Given the description of an element on the screen output the (x, y) to click on. 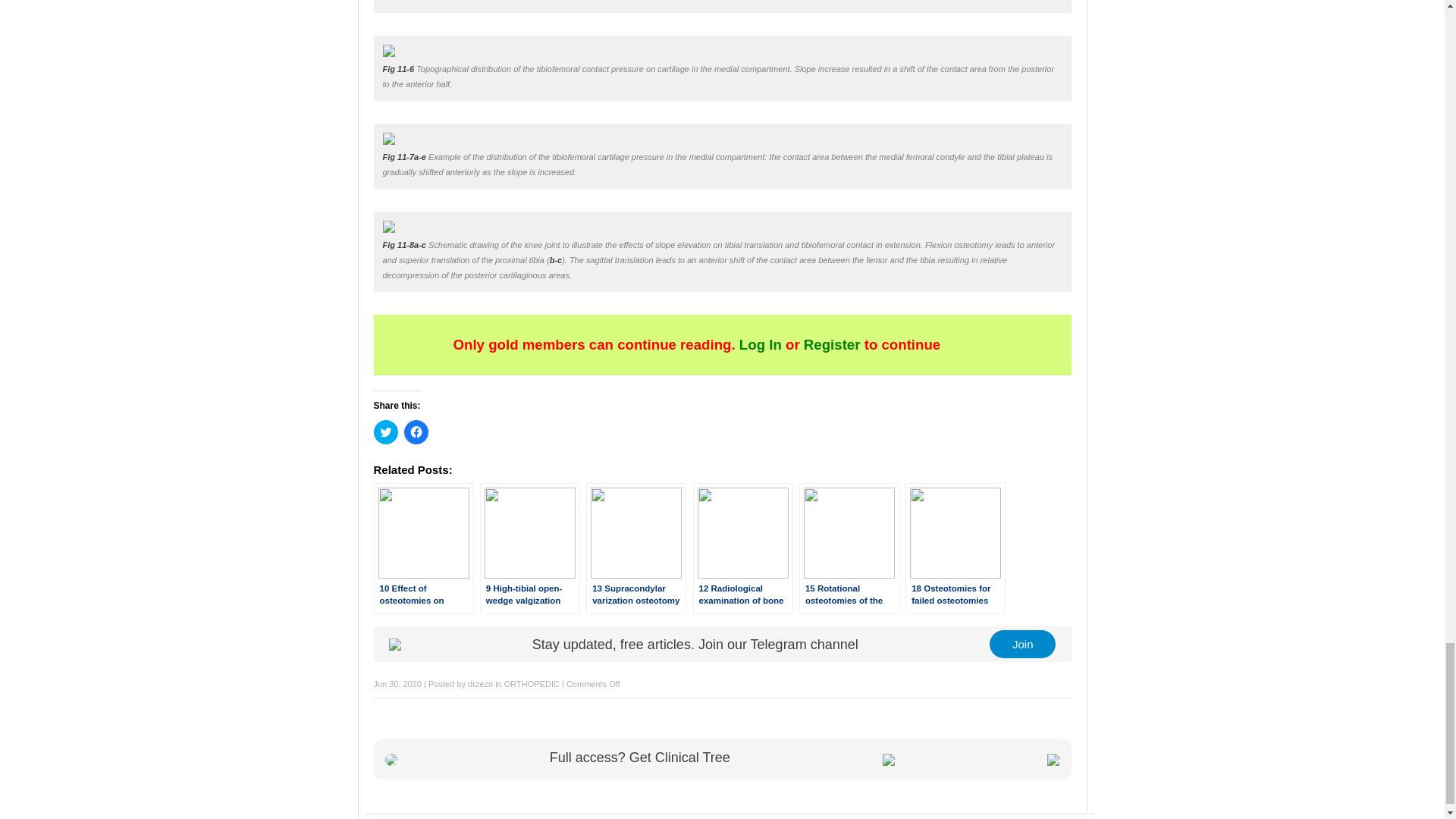
Log In (760, 344)
Click to share on Facebook (415, 432)
Click to share on Twitter (384, 432)
Posts by drzezo (480, 683)
Register (831, 344)
